Given the description of an element on the screen output the (x, y) to click on. 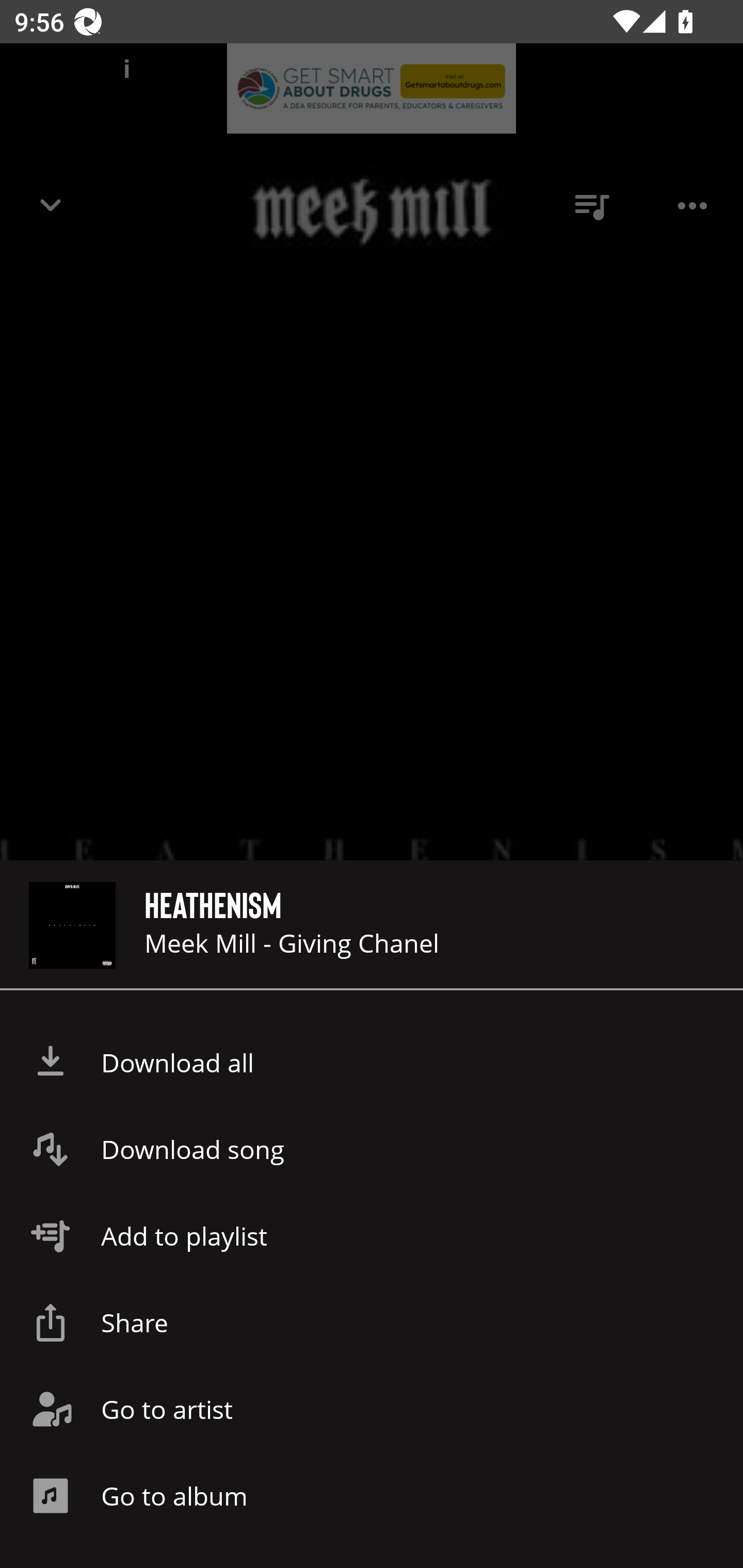
Download all (371, 1062)
Download song (371, 1149)
Add to playlist (371, 1236)
Share (371, 1322)
Go to artist (371, 1408)
Go to album (371, 1495)
